Given the description of an element on the screen output the (x, y) to click on. 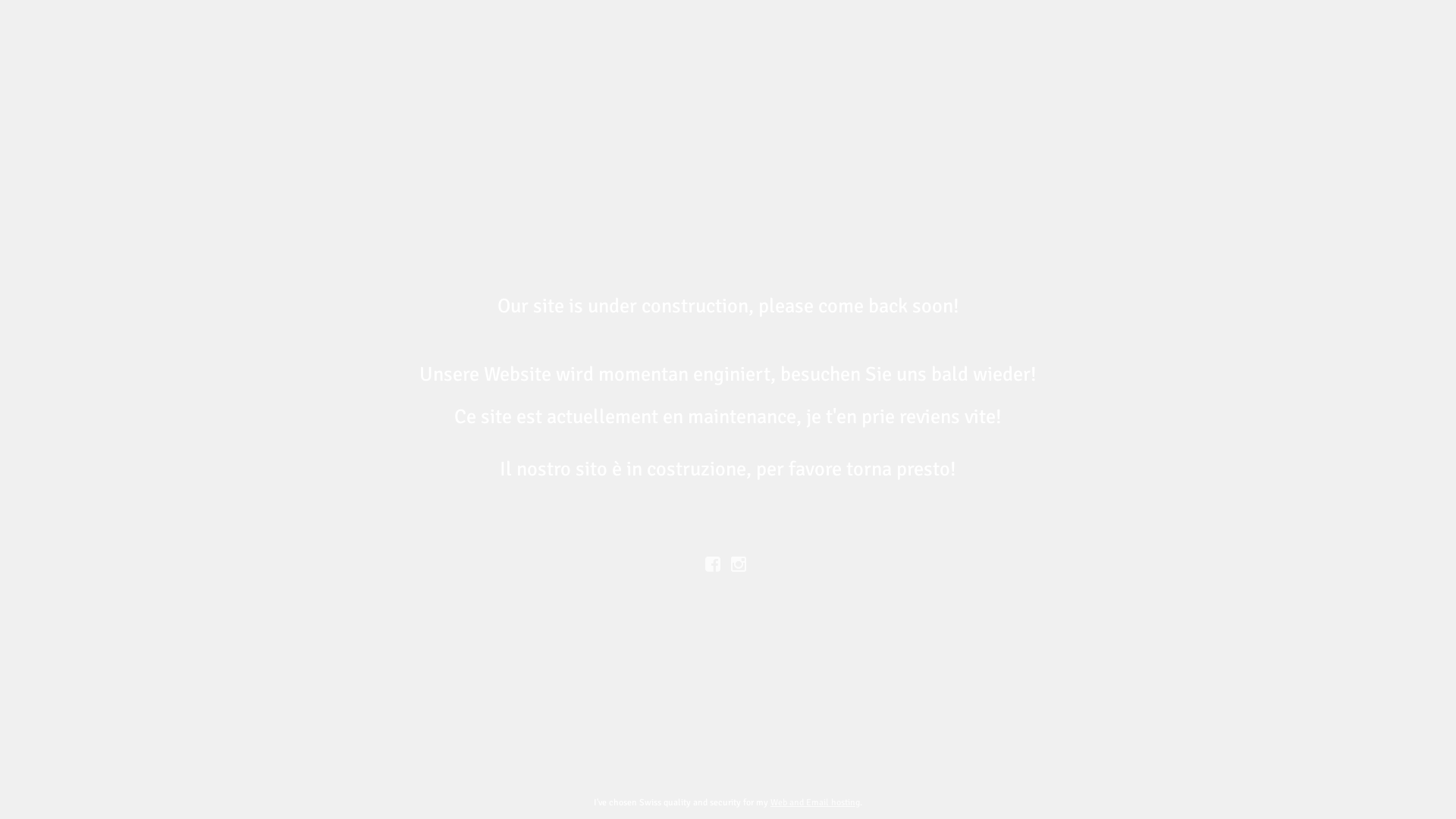
  Element type: text (741, 563)
Instagram Element type: hover (741, 563)
Web and Email hosting Element type: text (814, 802)
Facebook Element type: hover (712, 563)
